Given the description of an element on the screen output the (x, y) to click on. 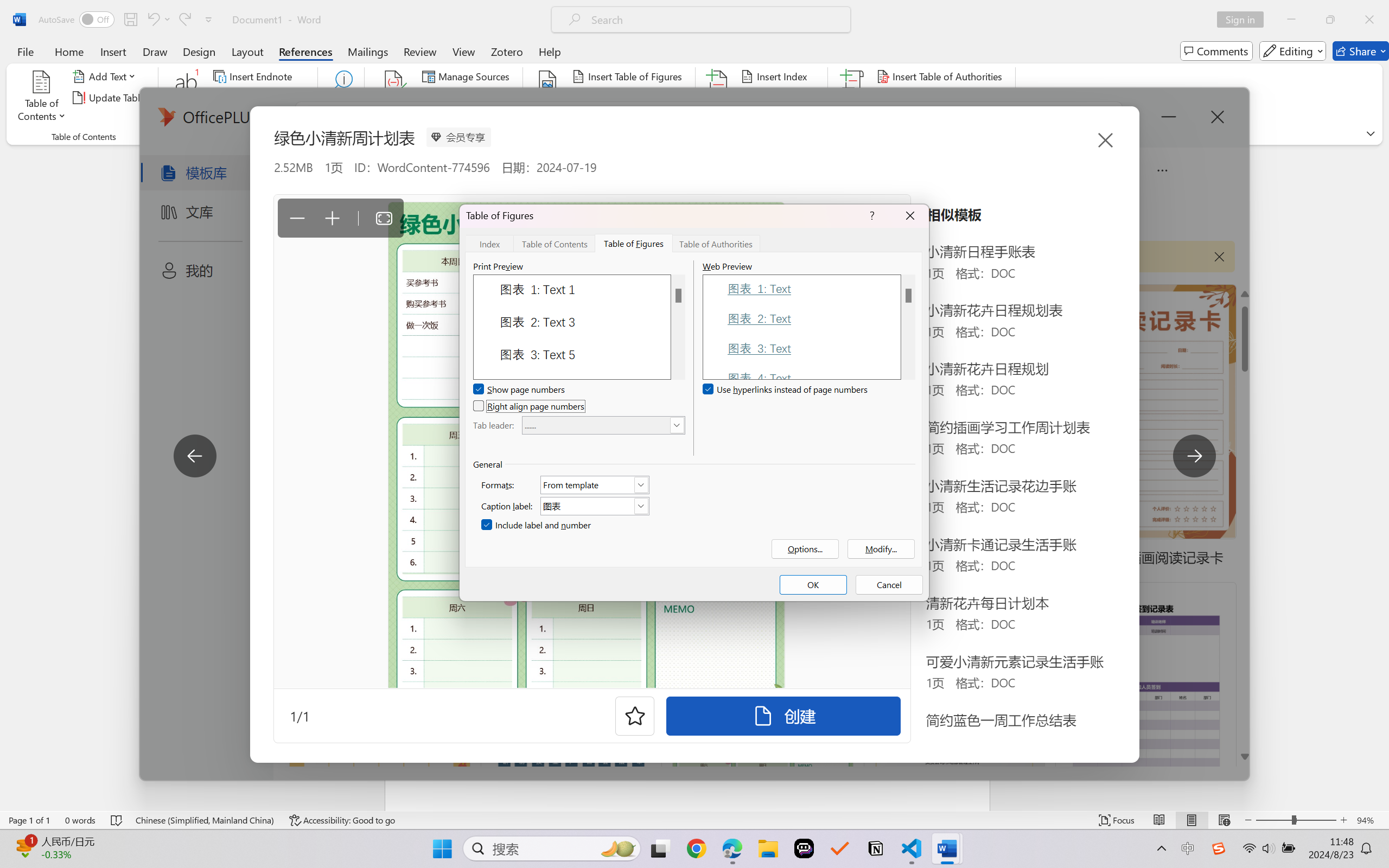
Add Text (106, 75)
Table of Figures (633, 243)
Footnote and Endnote Dialog... (311, 136)
AutomationID: 66 (908, 327)
Insert Endnote (253, 75)
Editing (1292, 50)
Update Index (778, 97)
